Given the description of an element on the screen output the (x, y) to click on. 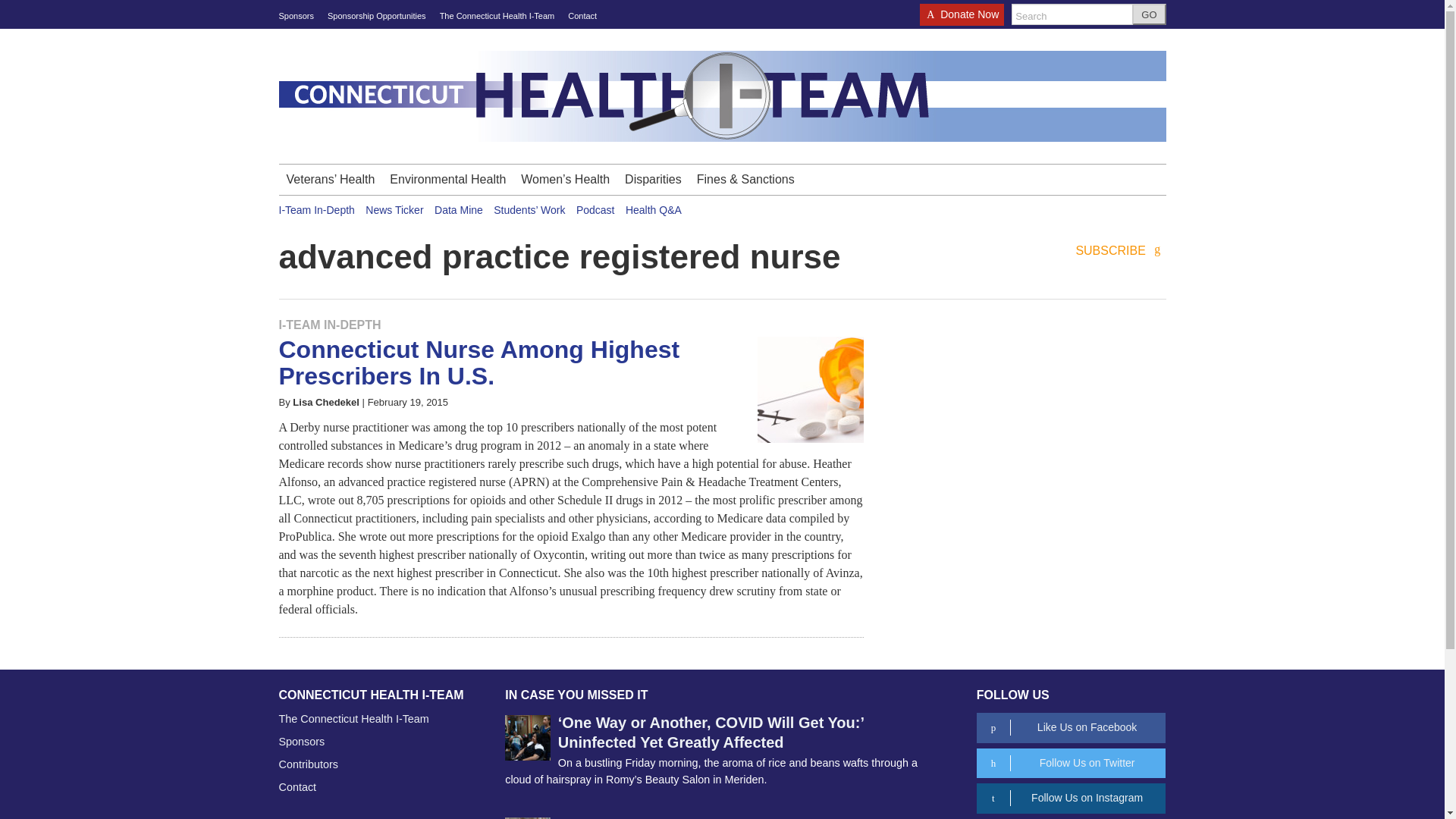
News Ticker (394, 209)
Sponsorship Opportunities (376, 15)
Sponsors (296, 15)
Data Mine (458, 209)
GO (1149, 14)
Contact (581, 15)
Donate Now (962, 19)
Read Stories in the I-Team In-Depth category (330, 324)
Environmental Health (447, 179)
Disparities (652, 179)
